Given the description of an element on the screen output the (x, y) to click on. 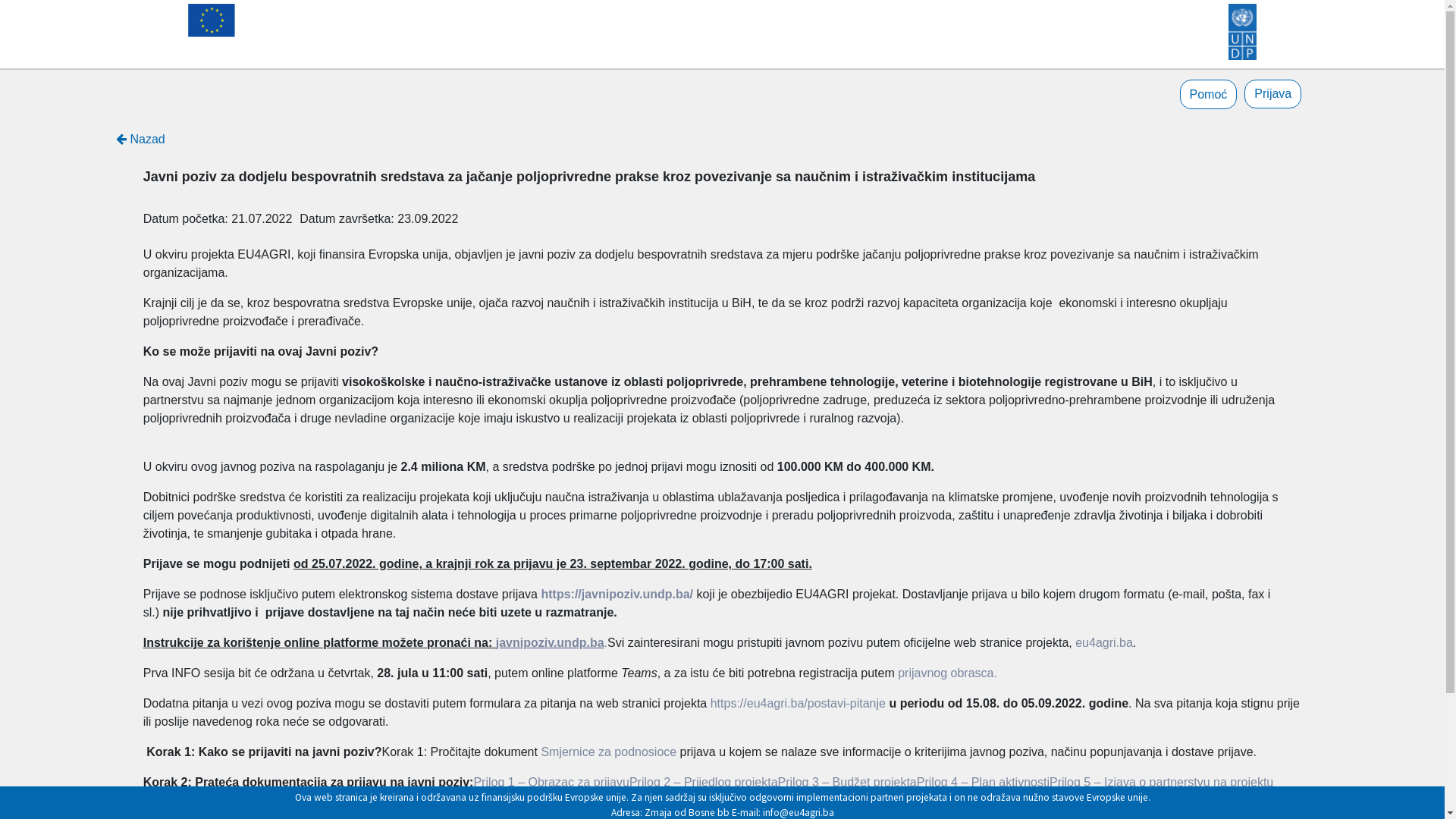
https://javnipoziv.undp.ba/ Element type: text (616, 593)
javnipoziv.undp.ba. Element type: text (551, 642)
Nazad Element type: text (140, 139)
eu4agri.ba Element type: text (1103, 642)
Prijava Element type: text (1272, 93)
prijavnog obrasca. Element type: text (947, 672)
Smjernice za podnosioce Element type: text (608, 751)
https://eu4agri.ba/postavi-pitanje Element type: text (797, 702)
